Given the description of an element on the screen output the (x, y) to click on. 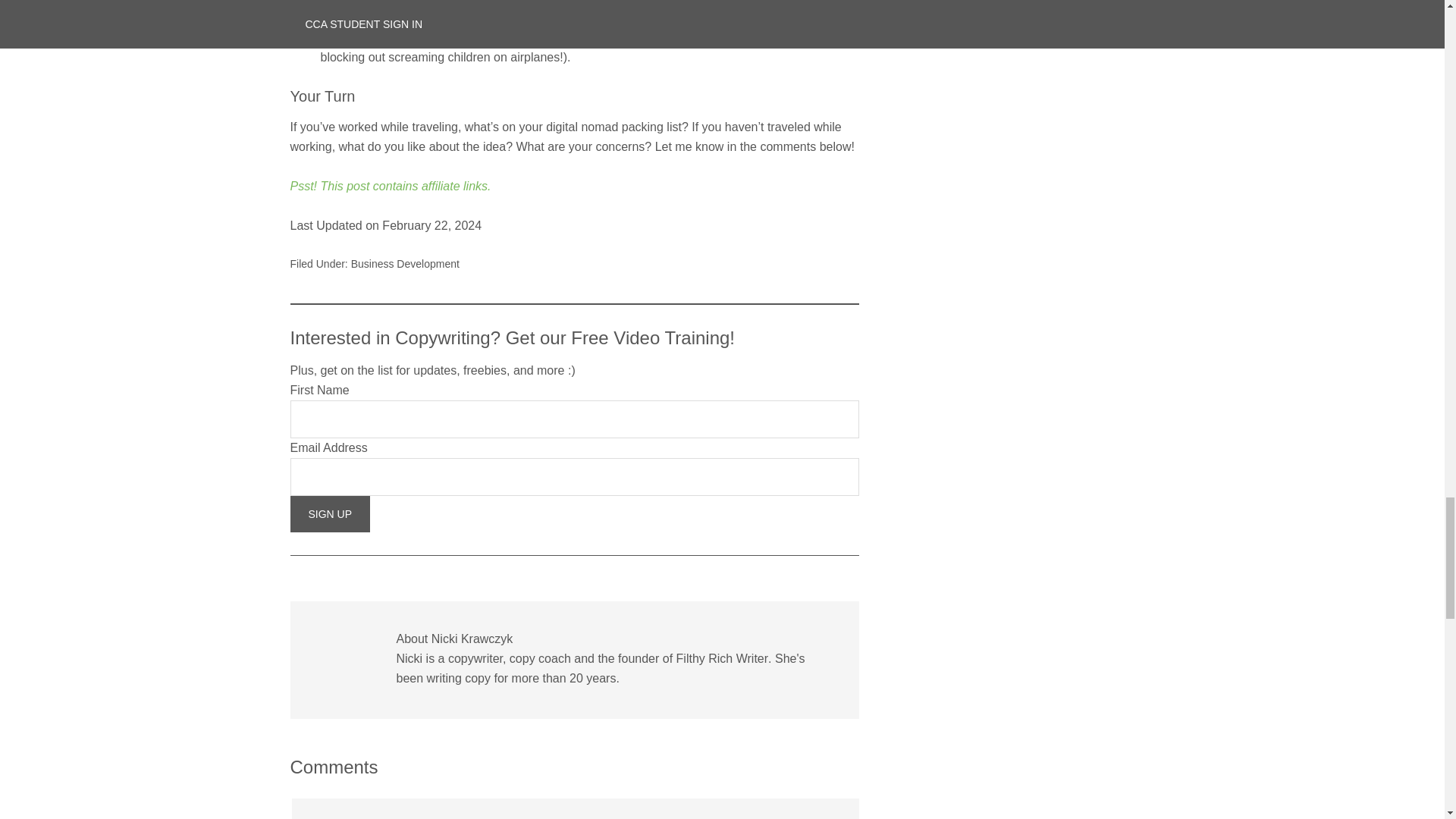
Sign Up (329, 514)
